Given the description of an element on the screen output the (x, y) to click on. 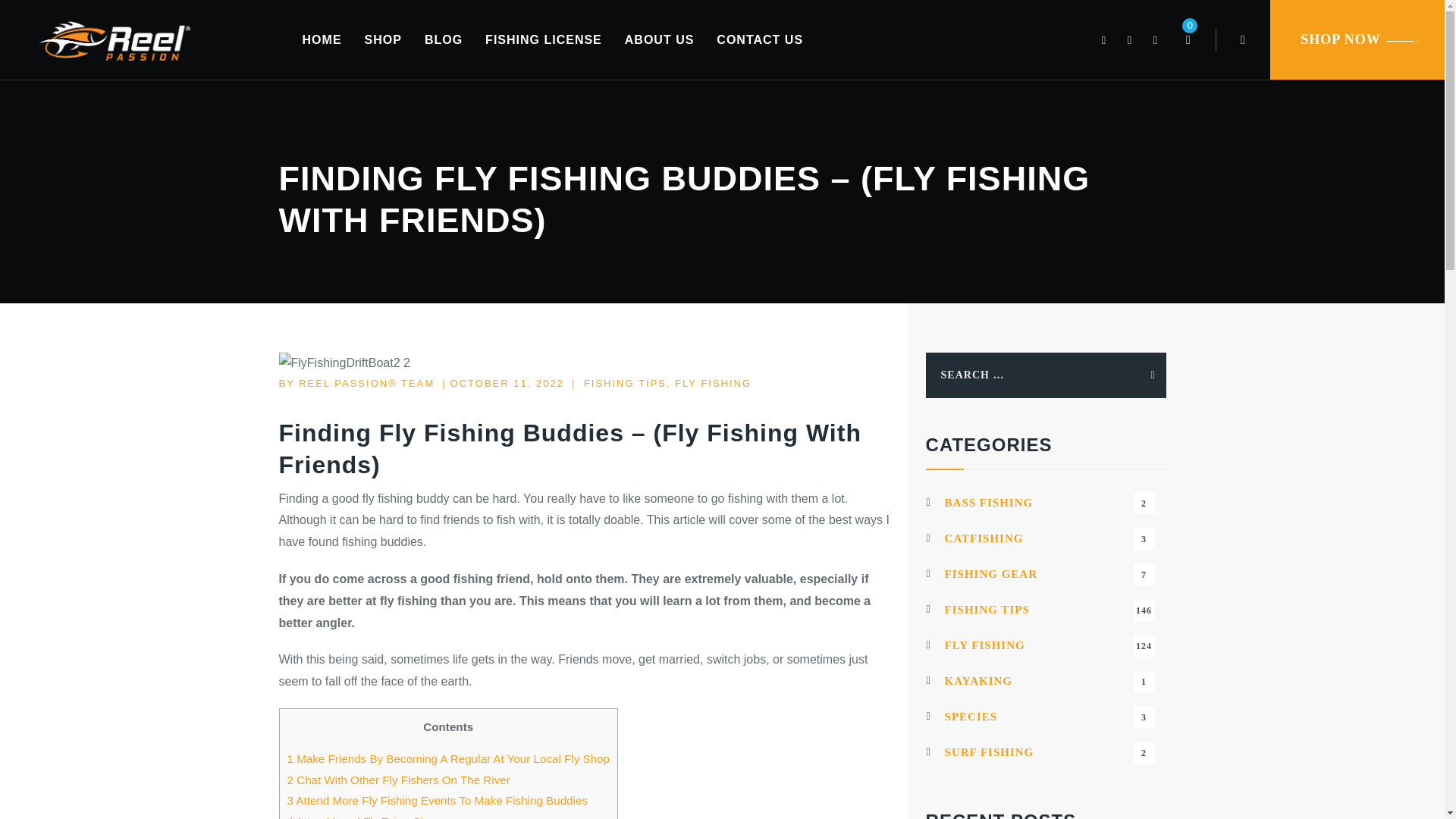
Search (1141, 375)
3 Attend More Fly Fishing Events To Make Fishing Buddies (436, 799)
OCTOBER 11, 2022 (506, 383)
0 (1046, 502)
FLY FISHING (1187, 39)
Search (713, 383)
4 Attend Local Fly Tying Classes (1141, 375)
CONTACT US (369, 816)
FISHING TIPS (759, 39)
2 Chat With Other Fly Fishers On The River (624, 383)
FISHING LICENSE (1046, 538)
1 Make Friends By Becoming A Regular At Your Local Fly Shop (397, 779)
Search (543, 39)
